Given the description of an element on the screen output the (x, y) to click on. 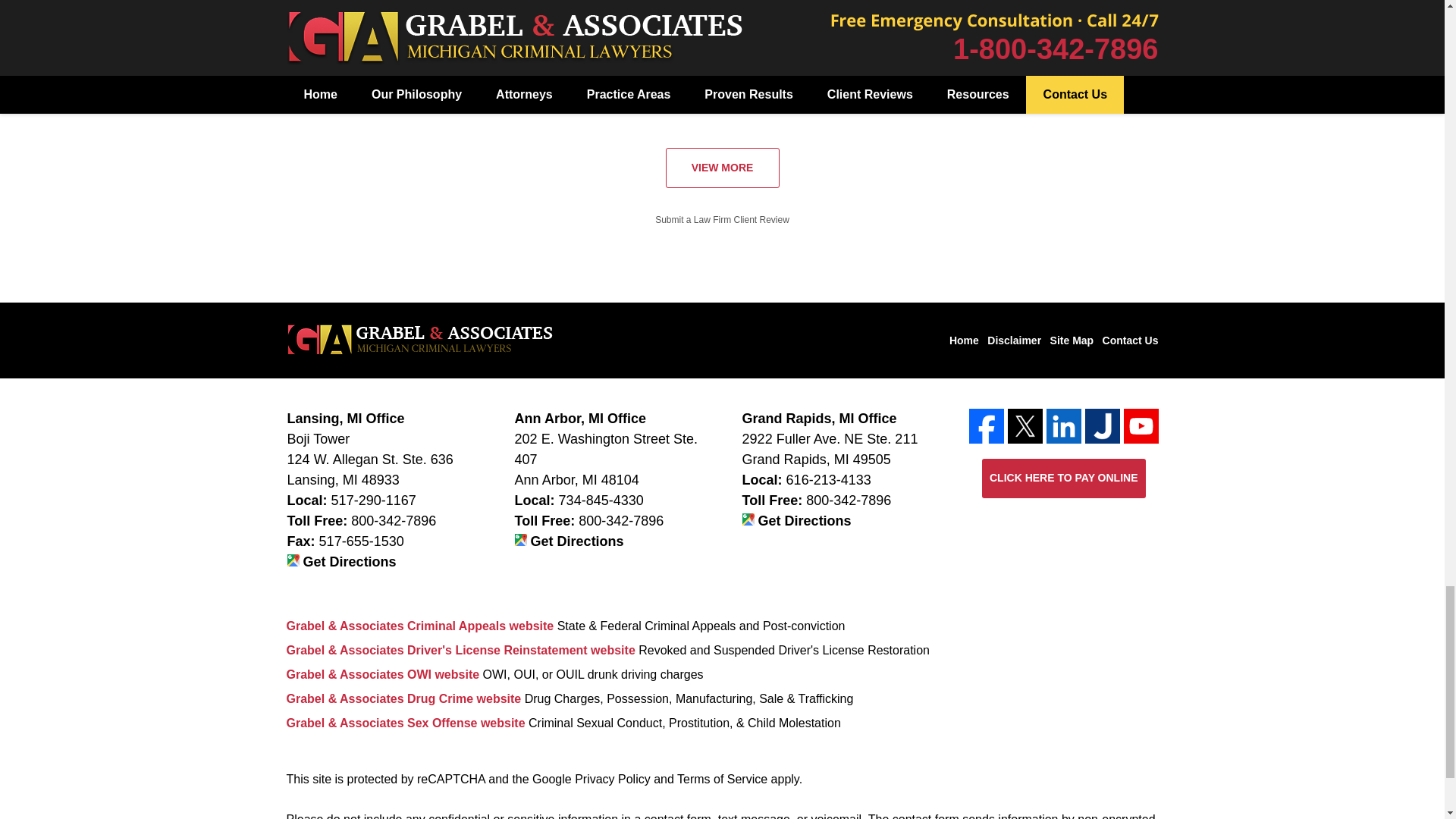
Facebook (986, 425)
Twitter (1024, 425)
Justia (1101, 425)
YouTube (1141, 425)
LinkedIn (1063, 425)
